Given the description of an element on the screen output the (x, y) to click on. 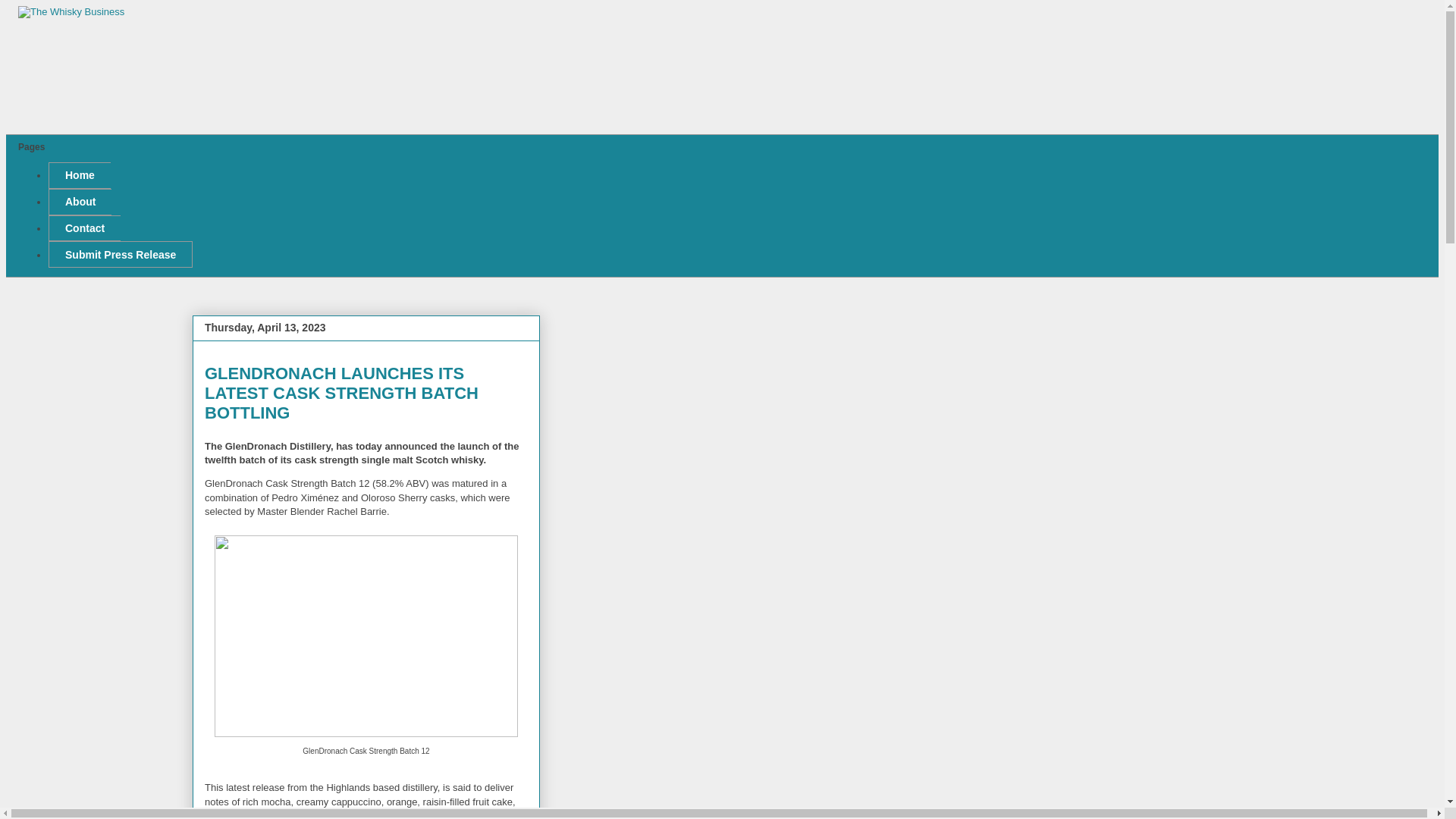
About (80, 202)
Submit Press Release (120, 253)
Contact (84, 228)
Home (79, 175)
